Given the description of an element on the screen output the (x, y) to click on. 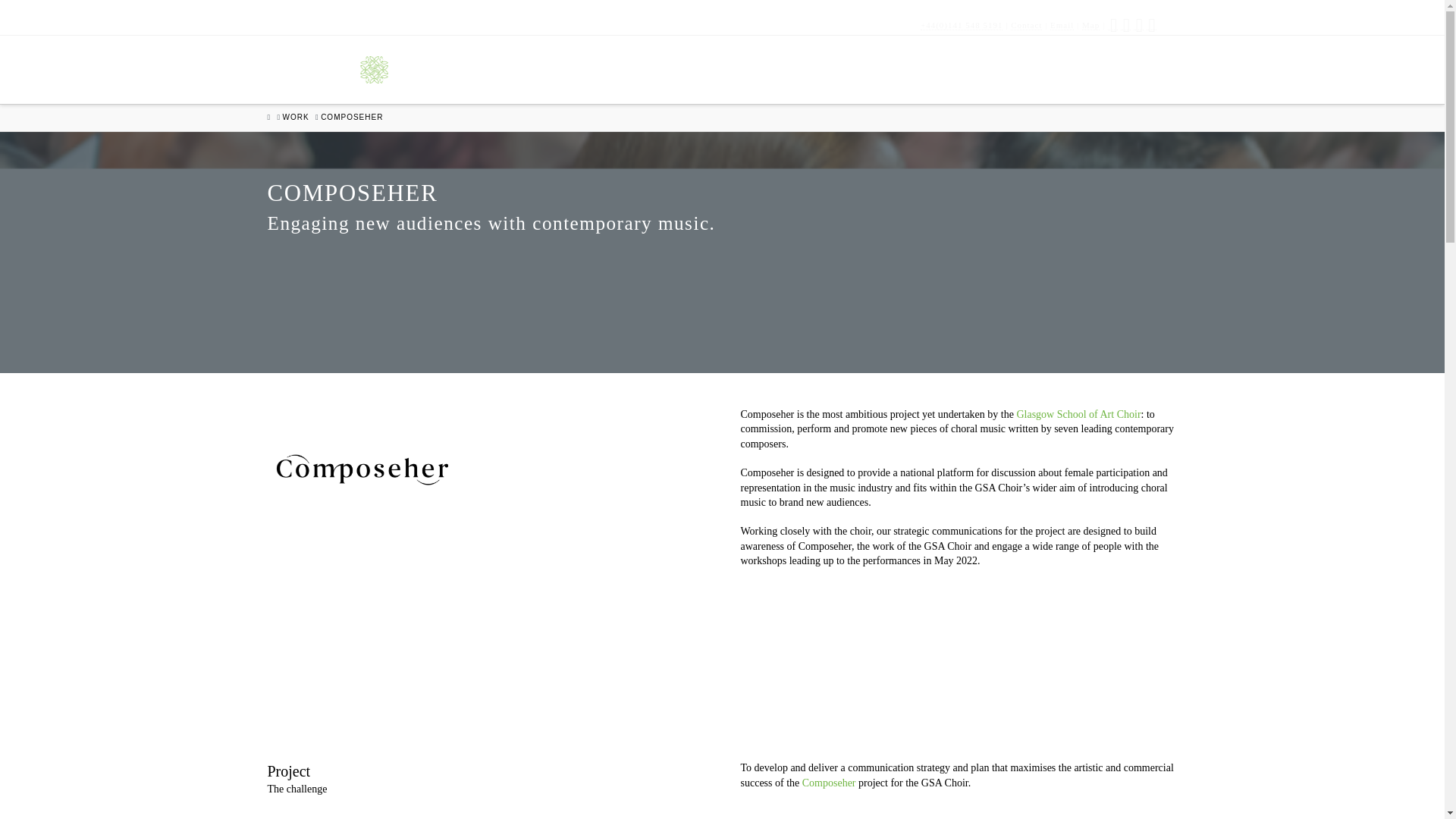
Contact (1026, 25)
OUR WORK (899, 69)
NEWS (1095, 69)
SERVICES (1007, 69)
Glasgow School of Art Choir (1078, 414)
TEAM (711, 69)
Composeher (829, 782)
Map (1090, 25)
CLIENTS (795, 69)
COMPOSEHER (351, 117)
